Given the description of an element on the screen output the (x, y) to click on. 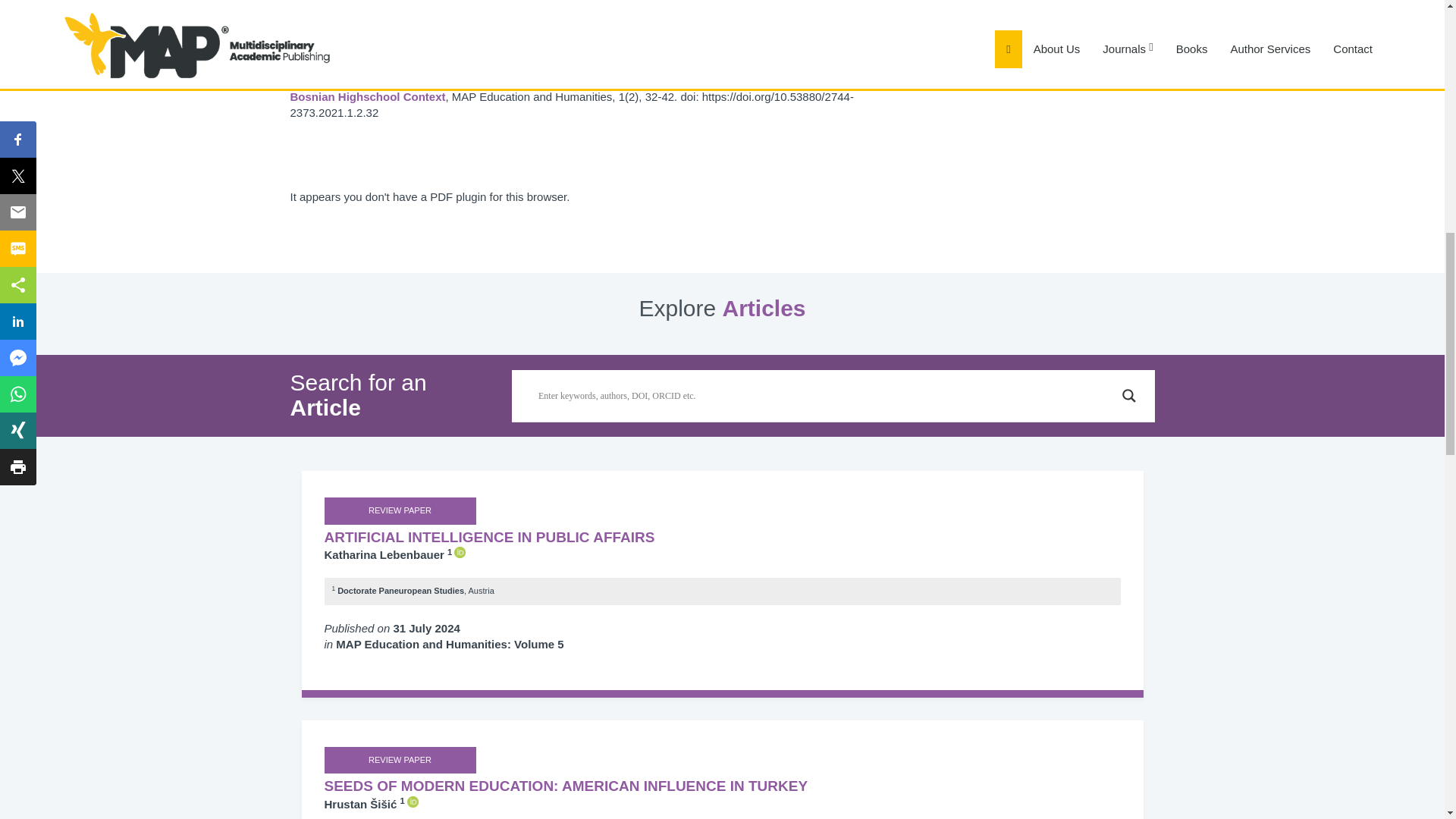
SEEDS OF MODERN EDUCATION: AMERICAN INFLUENCE IN TURKEY (722, 786)
31 July 2024 (426, 627)
MAP Education and Humanities: Volume 5 (449, 644)
ARTIFICIAL INTELLIGENCE IN PUBLIC AFFAIRS (722, 537)
